Given the description of an element on the screen output the (x, y) to click on. 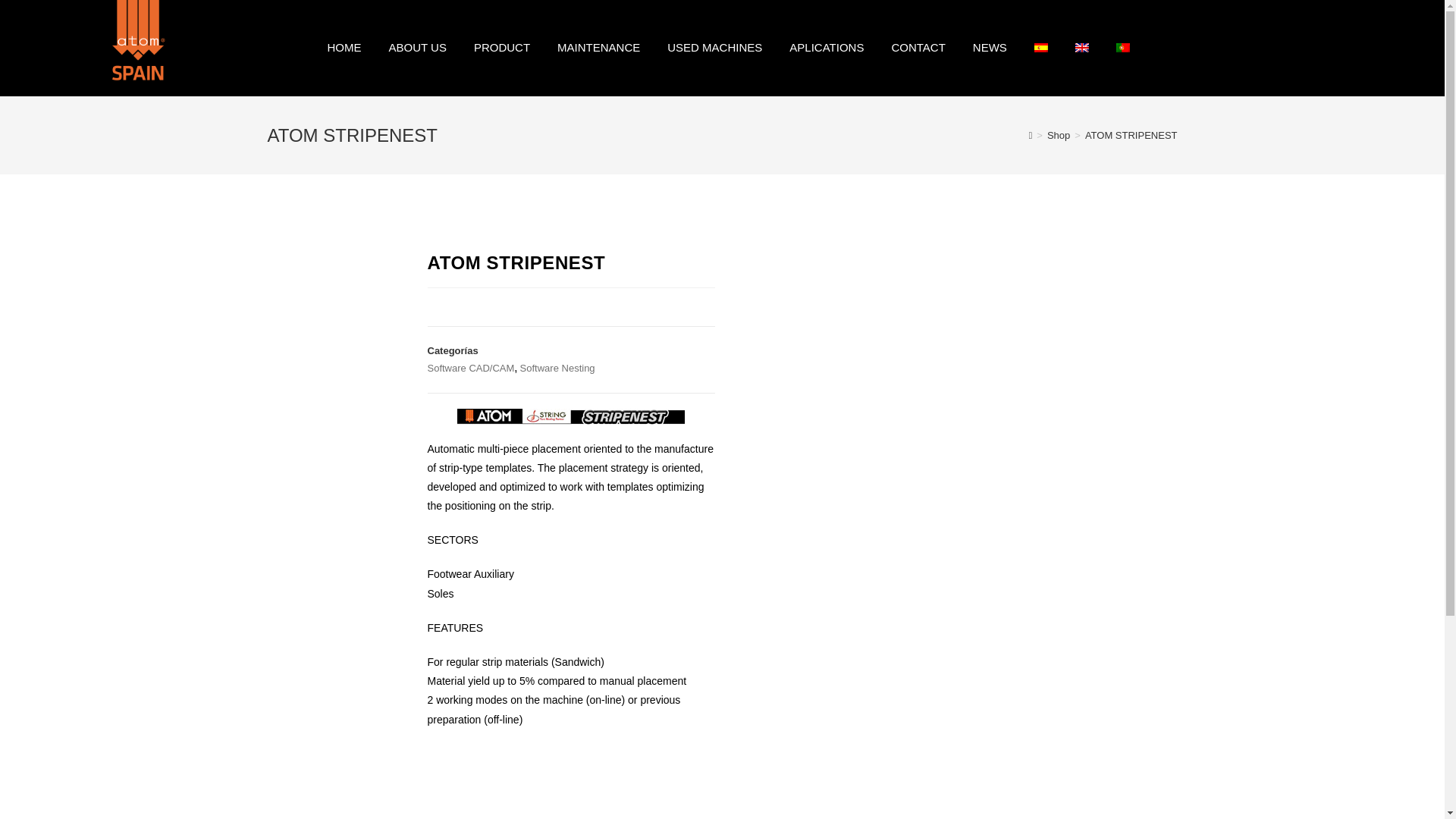
ABOUT US (417, 47)
PRODUCT (501, 47)
HOME (344, 47)
